Given the description of an element on the screen output the (x, y) to click on. 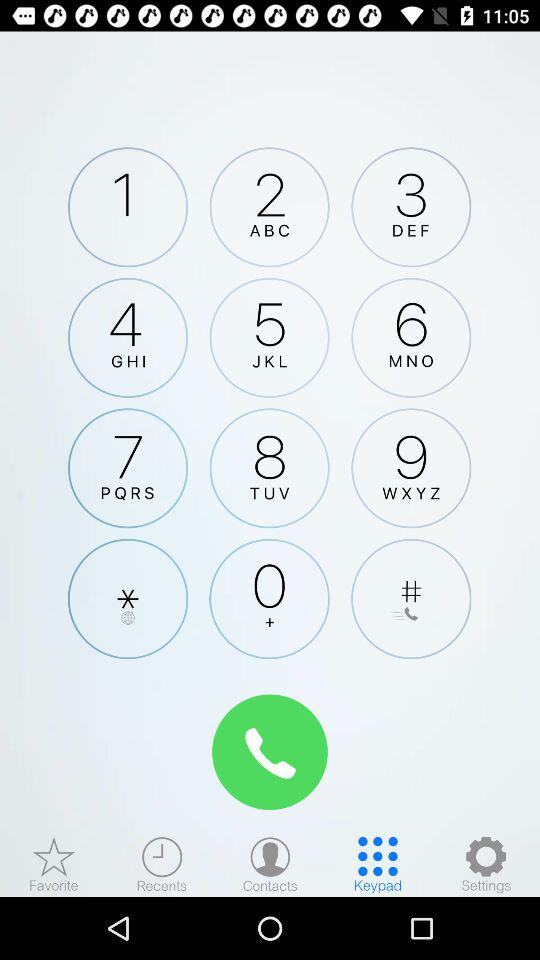
adds the pound sign (411, 598)
